Given the description of an element on the screen output the (x, y) to click on. 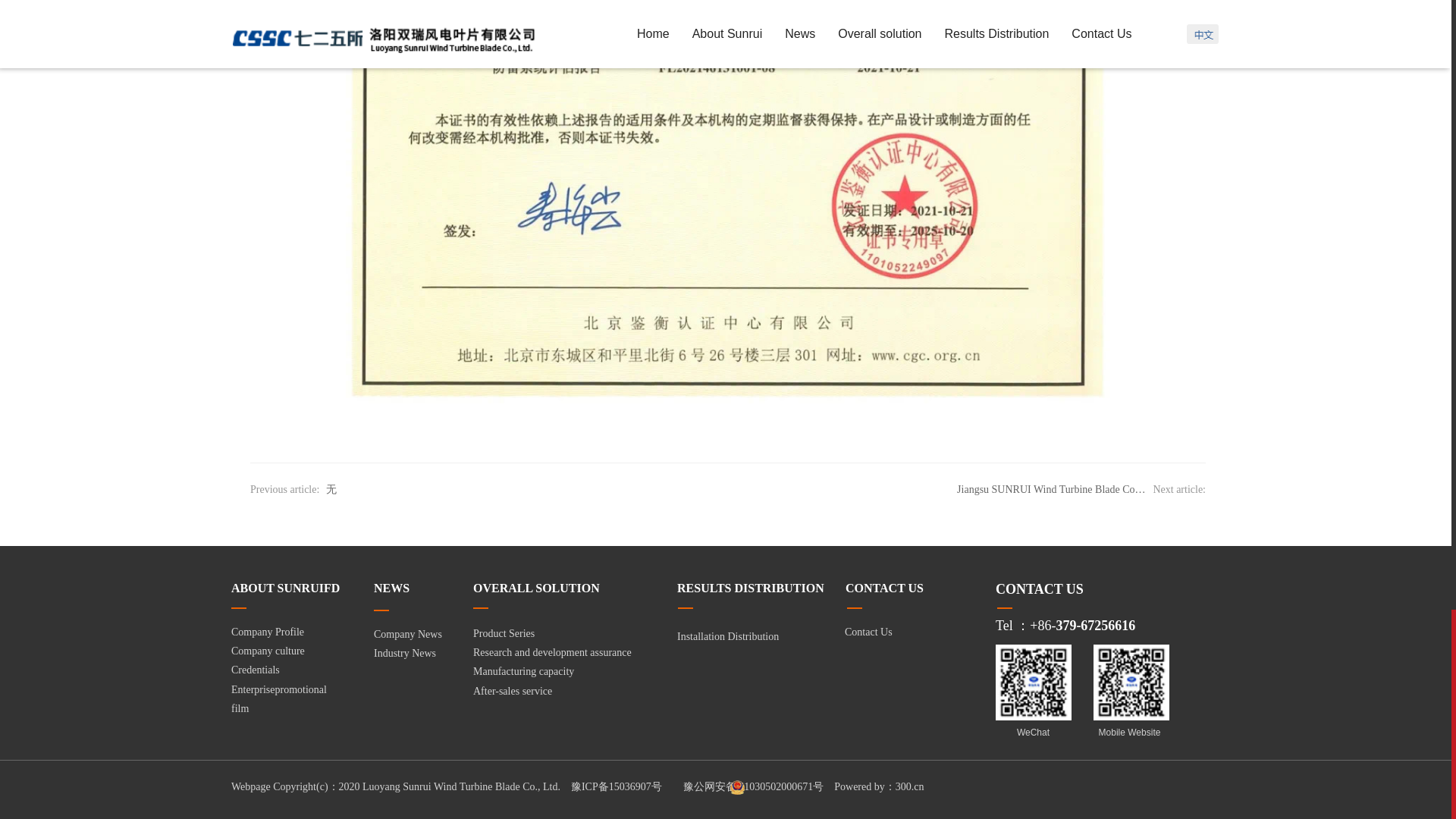
Industry News (404, 653)
Credentials (255, 670)
After-sales service (512, 690)
ABOUT SUNRUIFD (285, 588)
OVERALL SOLUTION (536, 588)
Enterprisepromotional film (278, 699)
Company culture (267, 651)
NEWS (391, 588)
Manufacturing capacity (523, 671)
Product Series (503, 633)
